Given the description of an element on the screen output the (x, y) to click on. 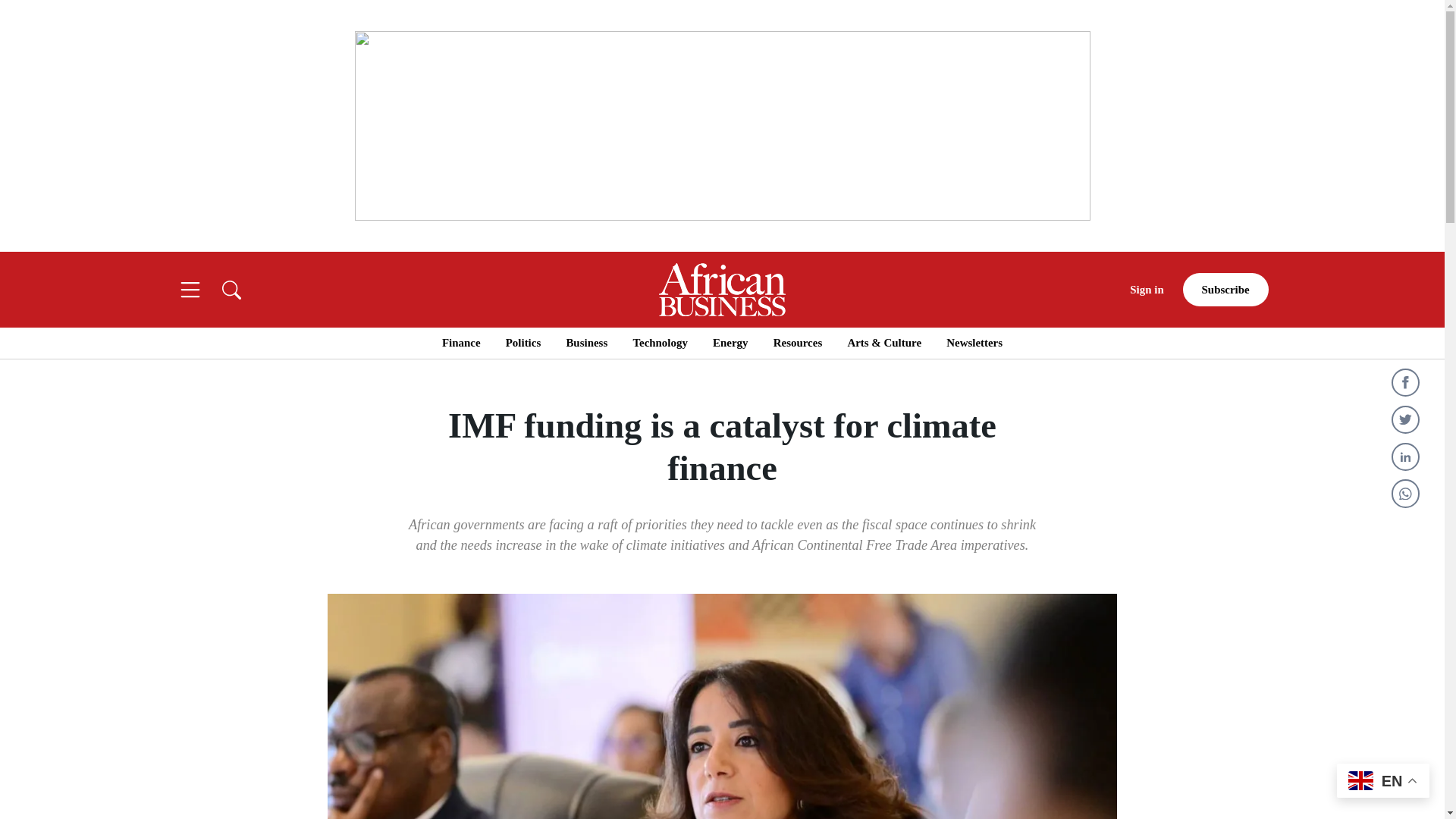
Resources (797, 342)
Finance (461, 342)
Subscribe (1225, 289)
Sign in (1146, 289)
Newsletters (974, 342)
Energy (730, 342)
Technology (659, 342)
Business (586, 342)
Politics (522, 342)
